Given the description of an element on the screen output the (x, y) to click on. 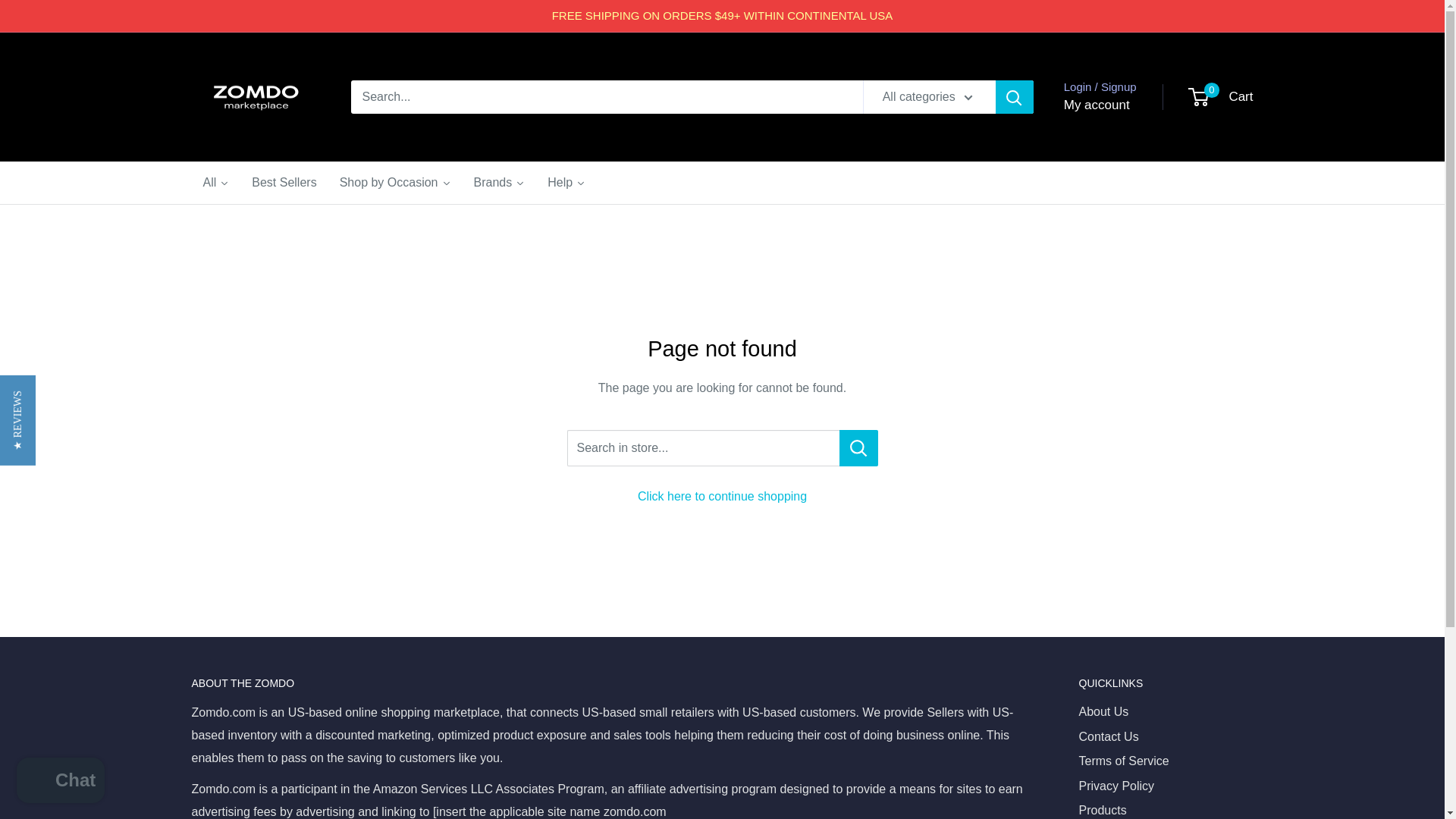
All (215, 182)
Help (565, 182)
Help (565, 182)
Brands (500, 182)
Shop by Occasion (396, 182)
Shopify online store chat (60, 781)
My account (1096, 105)
Brands (500, 182)
Shop by Occasion (396, 182)
